Given the description of an element on the screen output the (x, y) to click on. 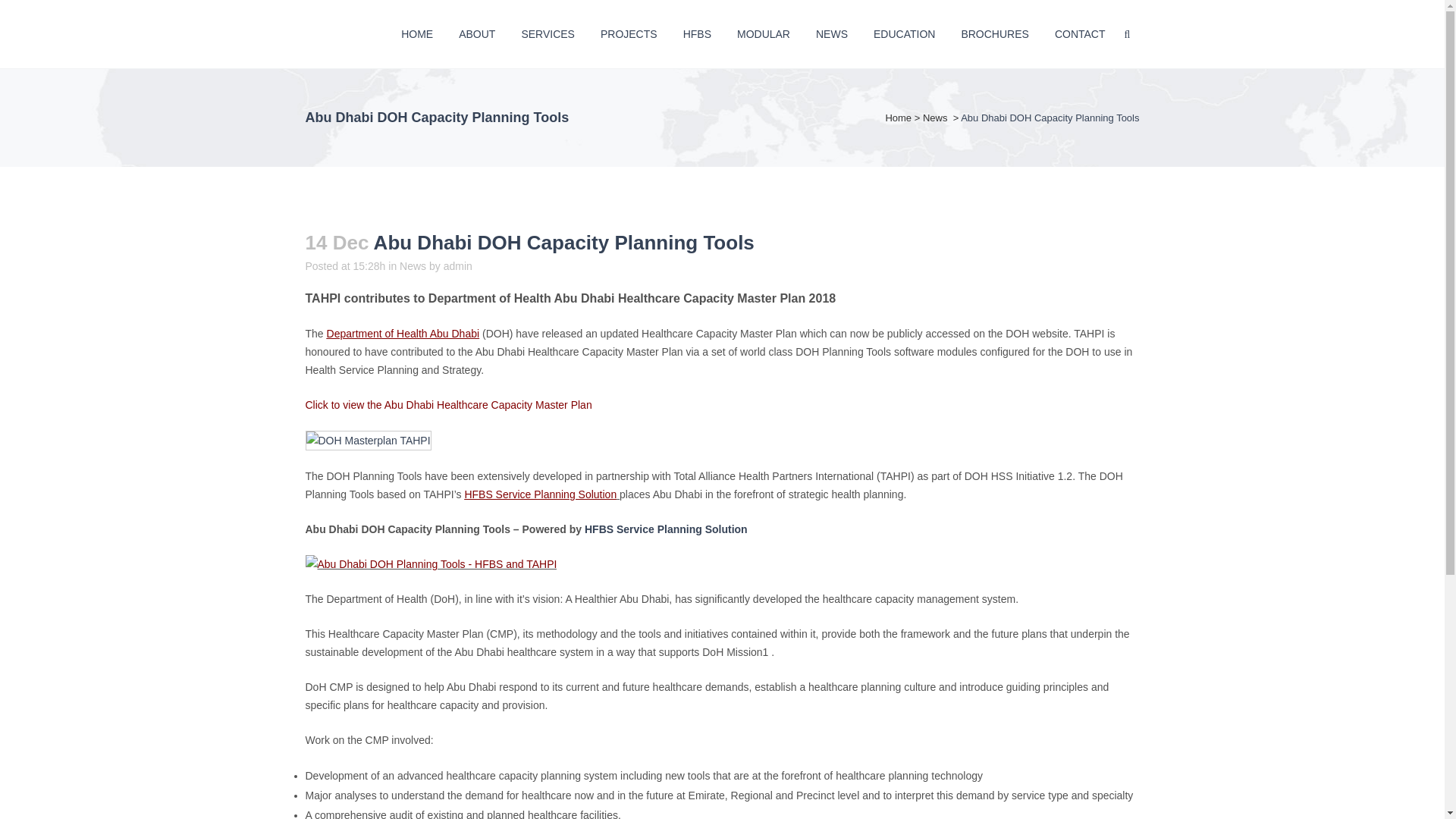
ABOUT (476, 33)
SERVICES (548, 33)
EDUCATION (903, 33)
MODULAR (763, 33)
PROJECTS (628, 33)
